Given the description of an element on the screen output the (x, y) to click on. 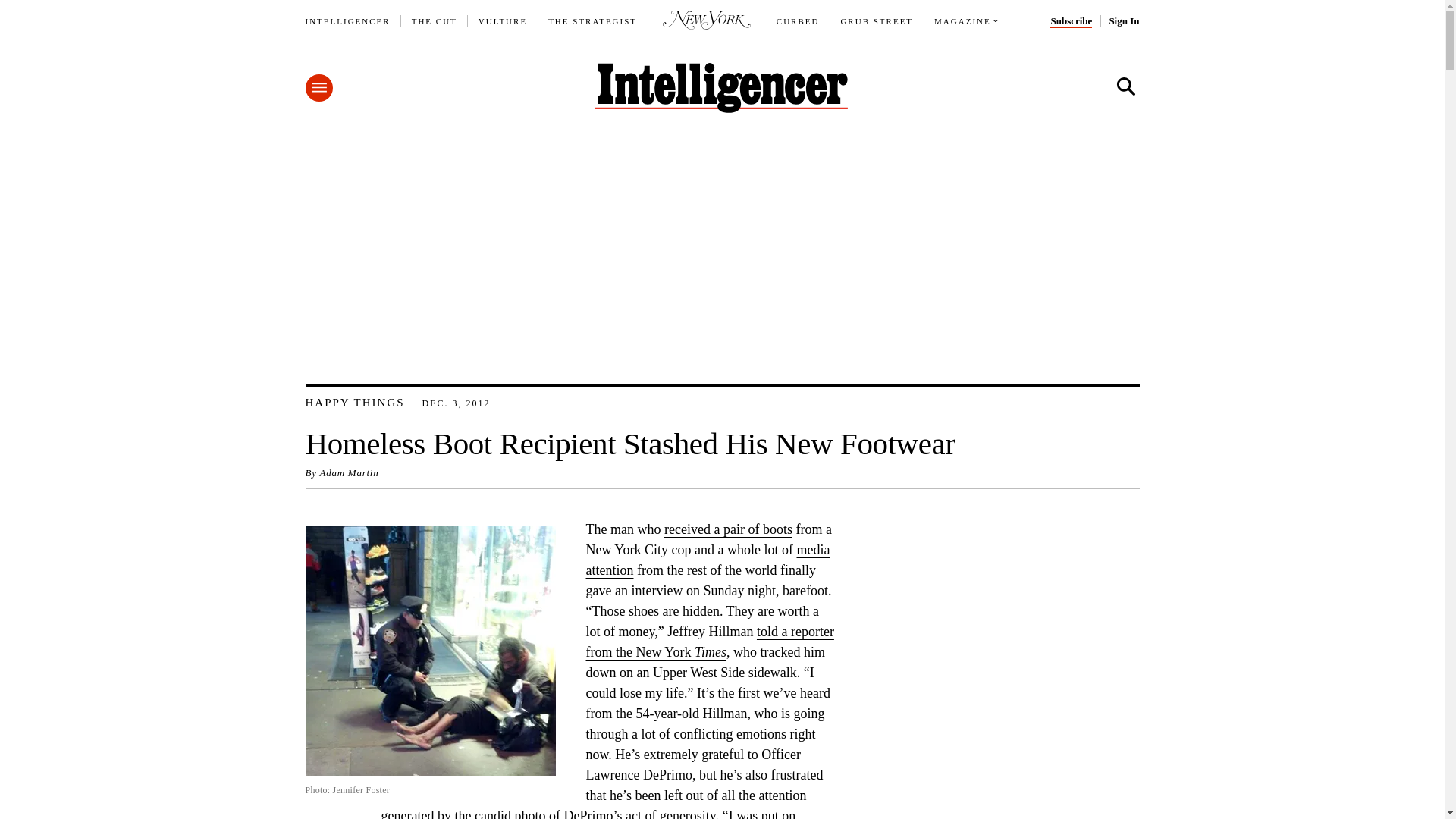
Subscribe (1070, 21)
INTELLIGENCER (347, 21)
THE STRATEGIST (592, 21)
THE CUT (434, 21)
Menu (317, 87)
Search (1124, 86)
Search (1124, 86)
CURBED (797, 21)
VULTURE (503, 21)
GRUB STREET (876, 21)
